Given the description of an element on the screen output the (x, y) to click on. 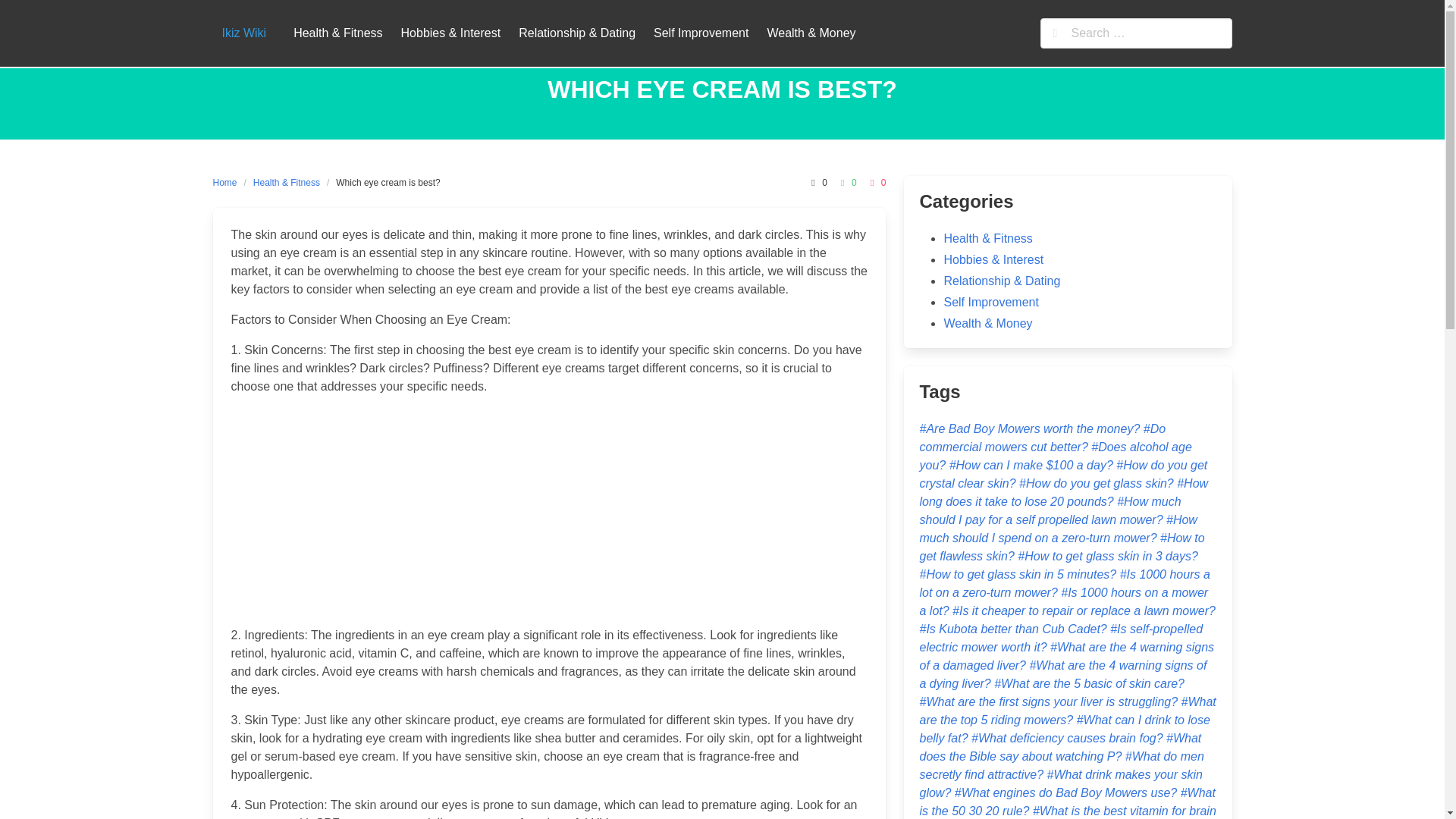
0 (816, 182)
Ikiz Wiki (243, 33)
Self Improvement (990, 301)
Self Improvement (701, 33)
Ikiz Wiki (243, 33)
Which eye cream is best? (387, 182)
0 (876, 182)
Home (227, 182)
Self Improvement (701, 33)
0 (846, 182)
